Given the description of an element on the screen output the (x, y) to click on. 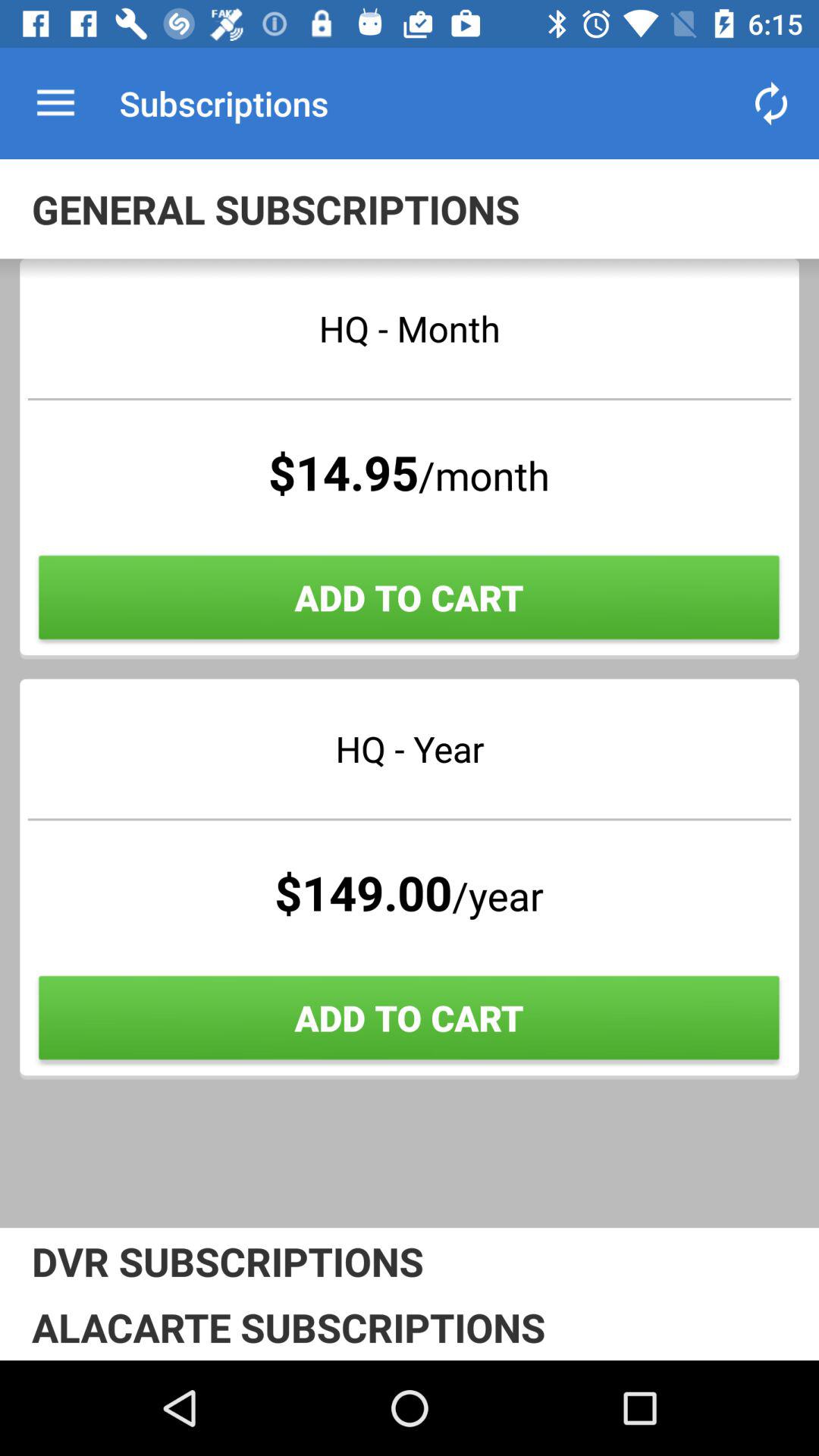
launch the app to the left of the subscriptions item (55, 103)
